Given the description of an element on the screen output the (x, y) to click on. 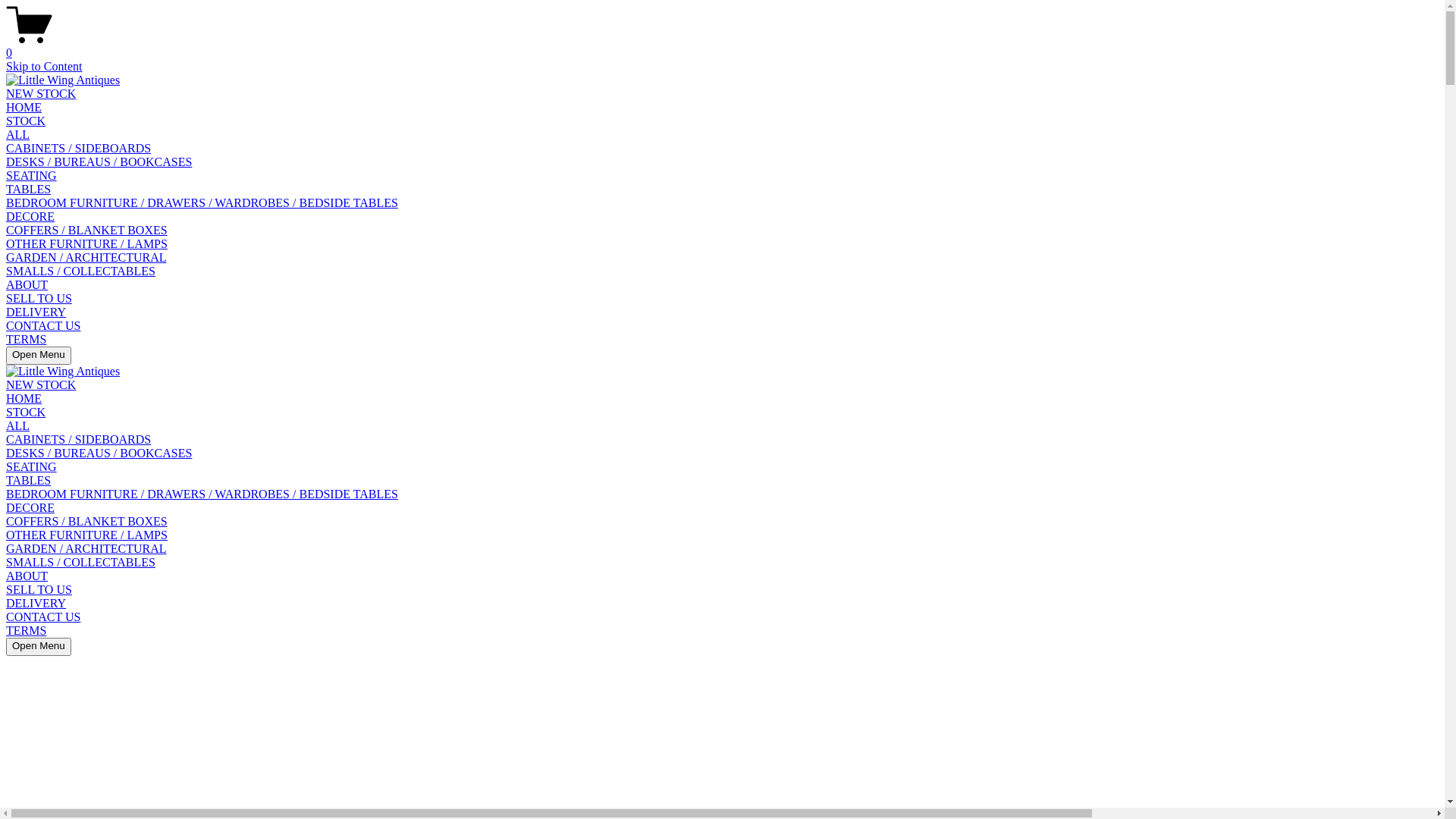
STOCK Element type: text (25, 411)
COFFERS / BLANKET BOXES Element type: text (86, 229)
SELL TO US Element type: text (39, 297)
TERMS Element type: text (26, 630)
SMALLS / COLLECTABLES Element type: text (80, 561)
CONTACT US Element type: text (43, 616)
STOCK Element type: text (25, 120)
ALL Element type: text (17, 425)
CABINETS / SIDEBOARDS Element type: text (78, 147)
OTHER FURNITURE / LAMPS Element type: text (86, 243)
DELIVERY Element type: text (35, 311)
TABLES Element type: text (28, 479)
ALL Element type: text (17, 134)
DESKS / BUREAUS / BOOKCASES Element type: text (98, 452)
COFFERS / BLANKET BOXES Element type: text (86, 520)
NEW STOCK Element type: text (40, 384)
SEATING Element type: text (31, 466)
SELL TO US Element type: text (39, 589)
BEDROOM FURNITURE / DRAWERS / WARDROBES / BEDSIDE TABLES Element type: text (202, 493)
HOME Element type: text (23, 106)
Open Menu Element type: text (38, 355)
GARDEN / ARCHITECTURAL Element type: text (86, 548)
BEDROOM FURNITURE / DRAWERS / WARDROBES / BEDSIDE TABLES Element type: text (202, 202)
HOME Element type: text (23, 398)
DELIVERY Element type: text (35, 602)
TERMS Element type: text (26, 338)
GARDEN / ARCHITECTURAL Element type: text (86, 257)
CABINETS / SIDEBOARDS Element type: text (78, 439)
Open Menu Element type: text (38, 646)
ABOUT Element type: text (26, 575)
SEATING Element type: text (31, 175)
OTHER FURNITURE / LAMPS Element type: text (86, 534)
DECORE Element type: text (30, 216)
ABOUT Element type: text (26, 284)
Skip to Content Element type: text (43, 65)
NEW STOCK Element type: text (40, 93)
TABLES Element type: text (28, 188)
DESKS / BUREAUS / BOOKCASES Element type: text (98, 161)
SMALLS / COLLECTABLES Element type: text (80, 270)
0 Element type: text (722, 45)
CONTACT US Element type: text (43, 325)
DECORE Element type: text (30, 507)
